Given the description of an element on the screen output the (x, y) to click on. 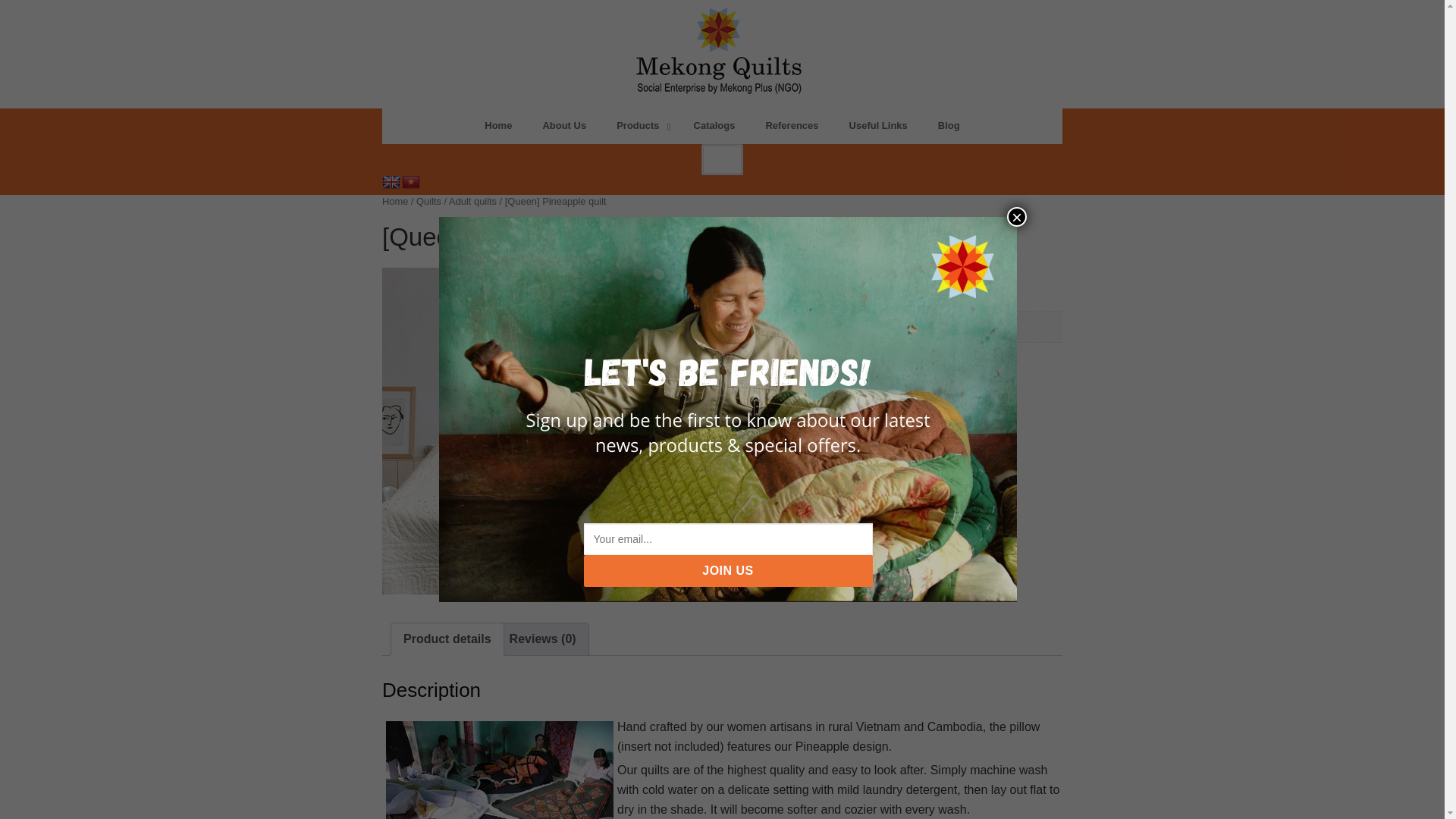
English (390, 182)
Home (497, 126)
About Us (721, 126)
Products (564, 126)
Vietnamese (639, 126)
Mekong Quilts (410, 182)
